Given the description of an element on the screen output the (x, y) to click on. 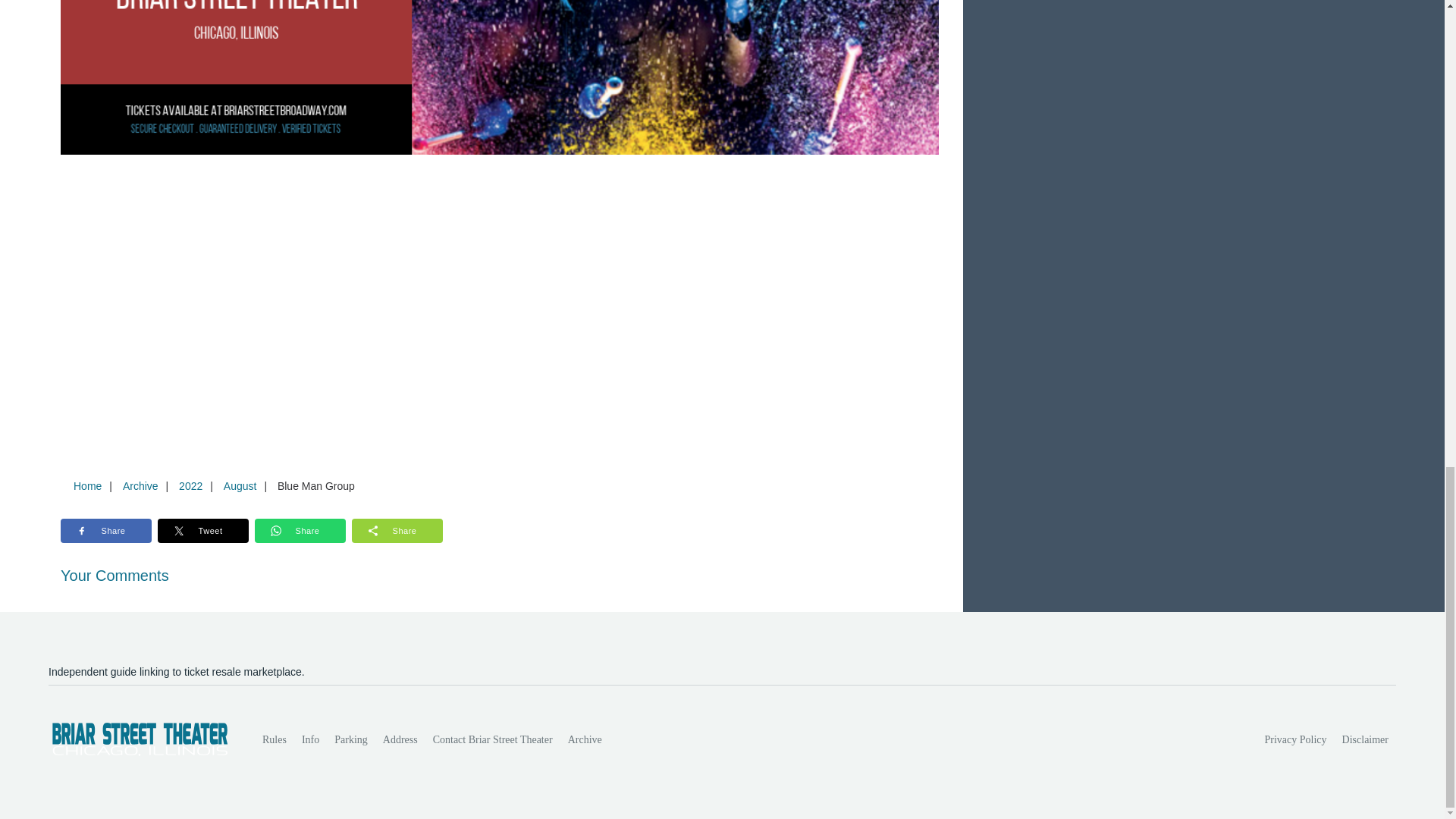
August (239, 485)
Parking (350, 739)
Archive (140, 485)
Privacy Policy (1296, 739)
Archive (585, 739)
2022 (190, 485)
Contact Briar Street Theater (492, 739)
Address (400, 739)
Info (310, 739)
Disclaimer (1365, 739)
Rules (274, 739)
Home (87, 485)
